Given the description of an element on the screen output the (x, y) to click on. 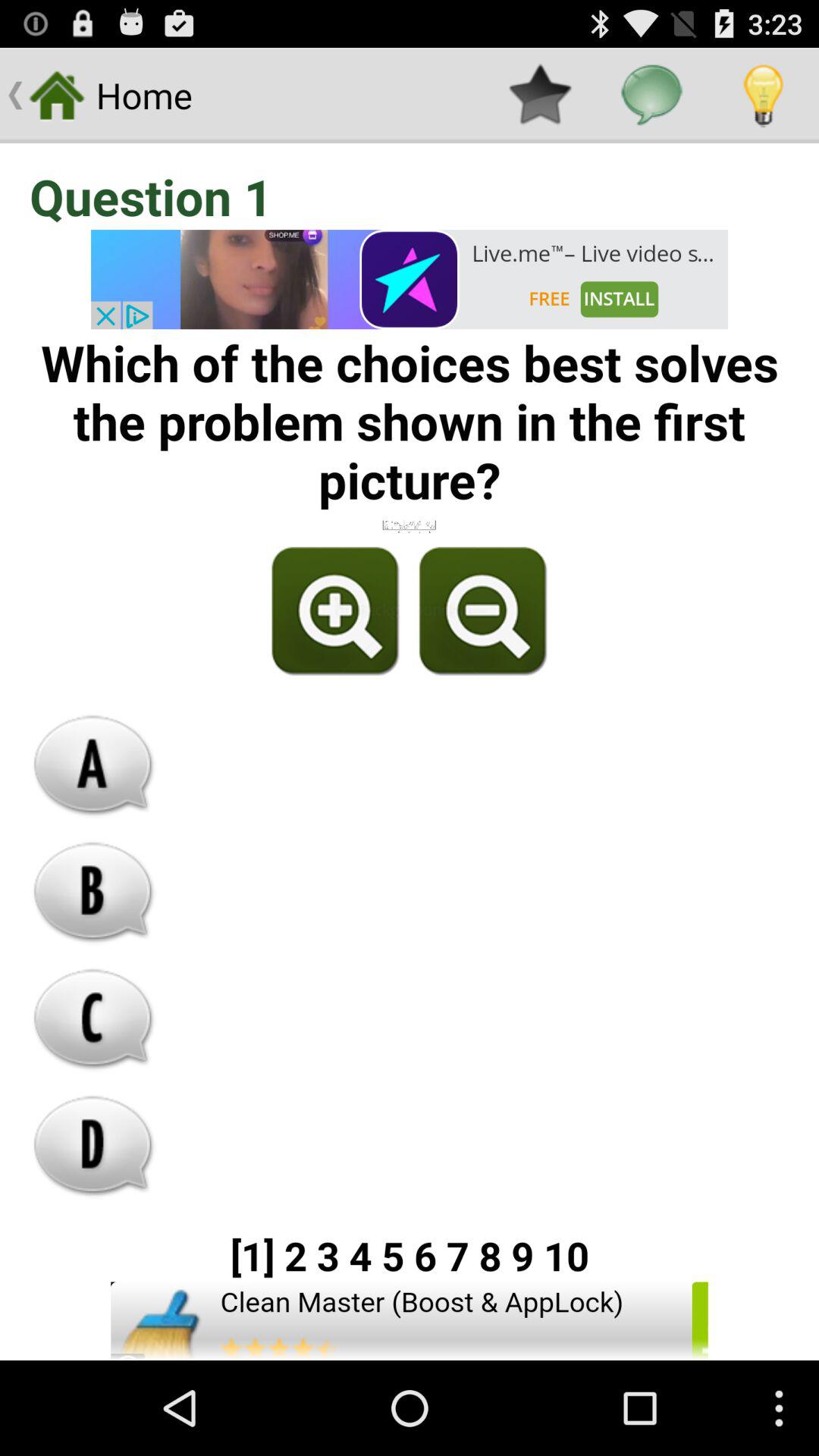
click on the zoom button (335, 611)
click on the button next to home (540, 95)
the yellow colored icon at the top right corner (763, 95)
the zoom out icon shown at the center of the page (480, 611)
select the chat icon below the first chat icon on the web page (93, 891)
